Given the description of an element on the screen output the (x, y) to click on. 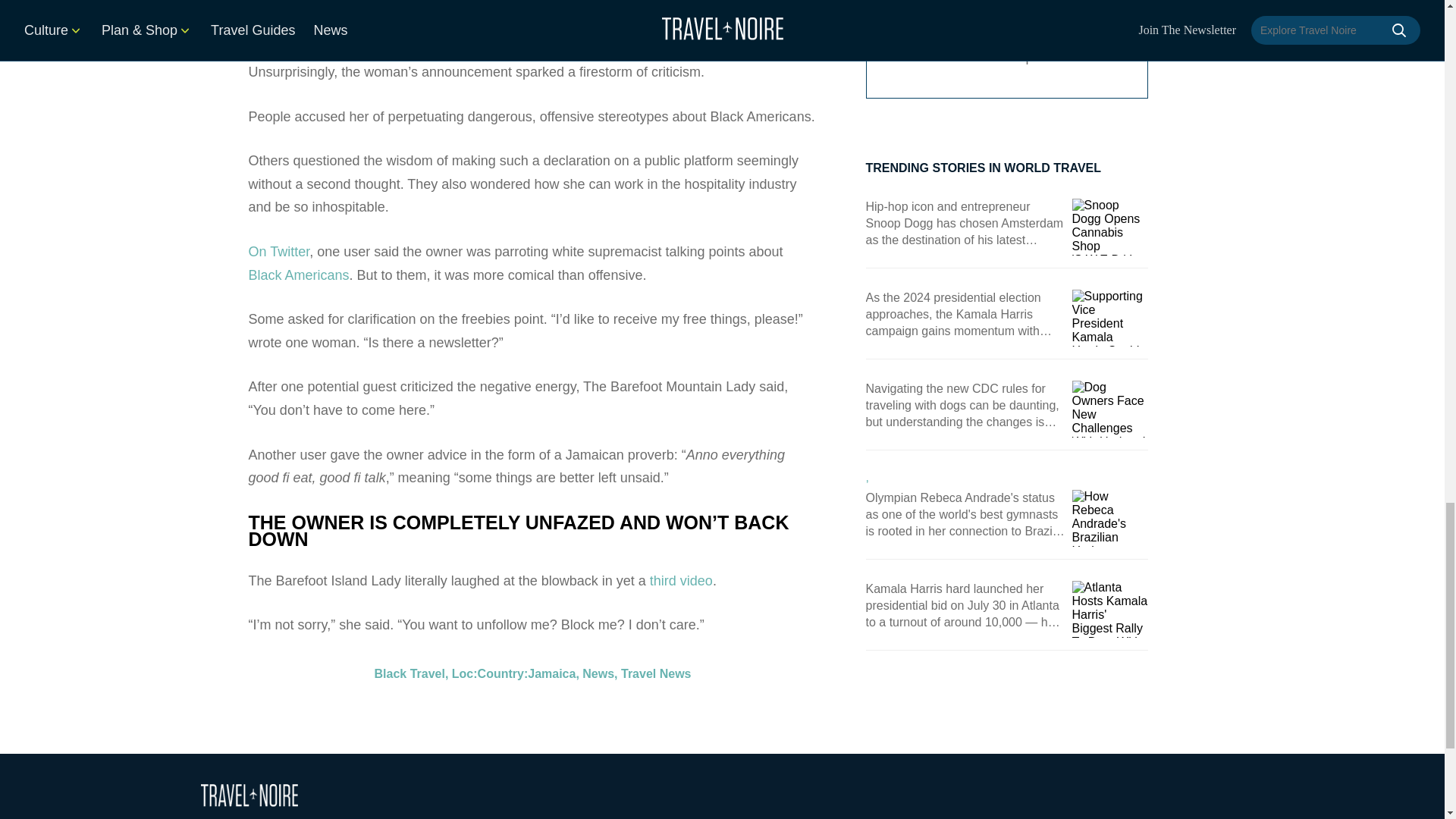
third video (681, 199)
Black Travel (409, 291)
Loc:Country:Jamaica (513, 291)
News (598, 291)
Travel Noire (248, 794)
Travel News (656, 291)
Dog Owners Face New Challenges With Updated CDC Travel Rules (1109, 408)
